Given the description of an element on the screen output the (x, y) to click on. 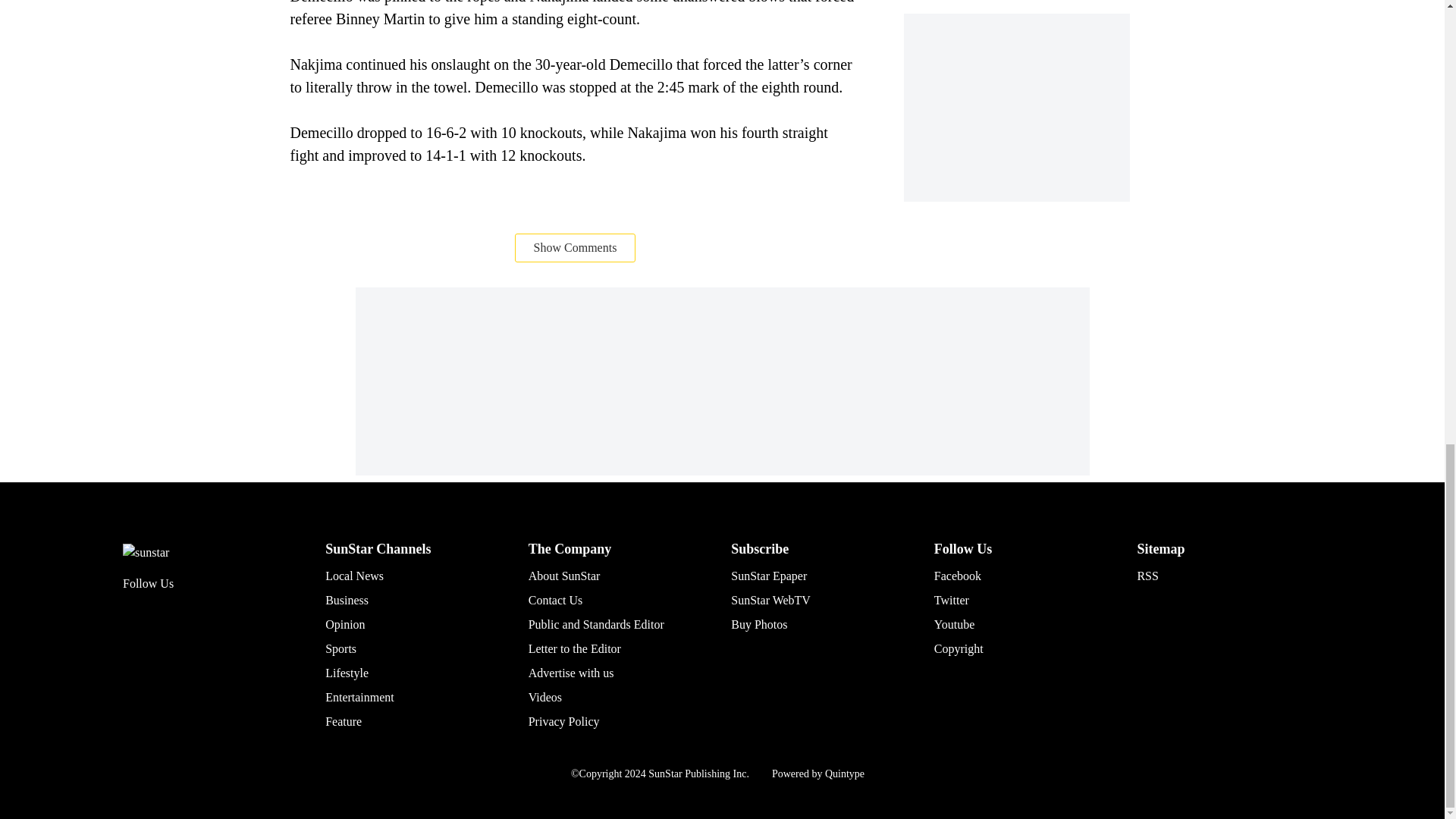
Business (346, 599)
Local News (354, 575)
Show Comments (575, 247)
Sports (340, 648)
Opinion (344, 624)
